Given the description of an element on the screen output the (x, y) to click on. 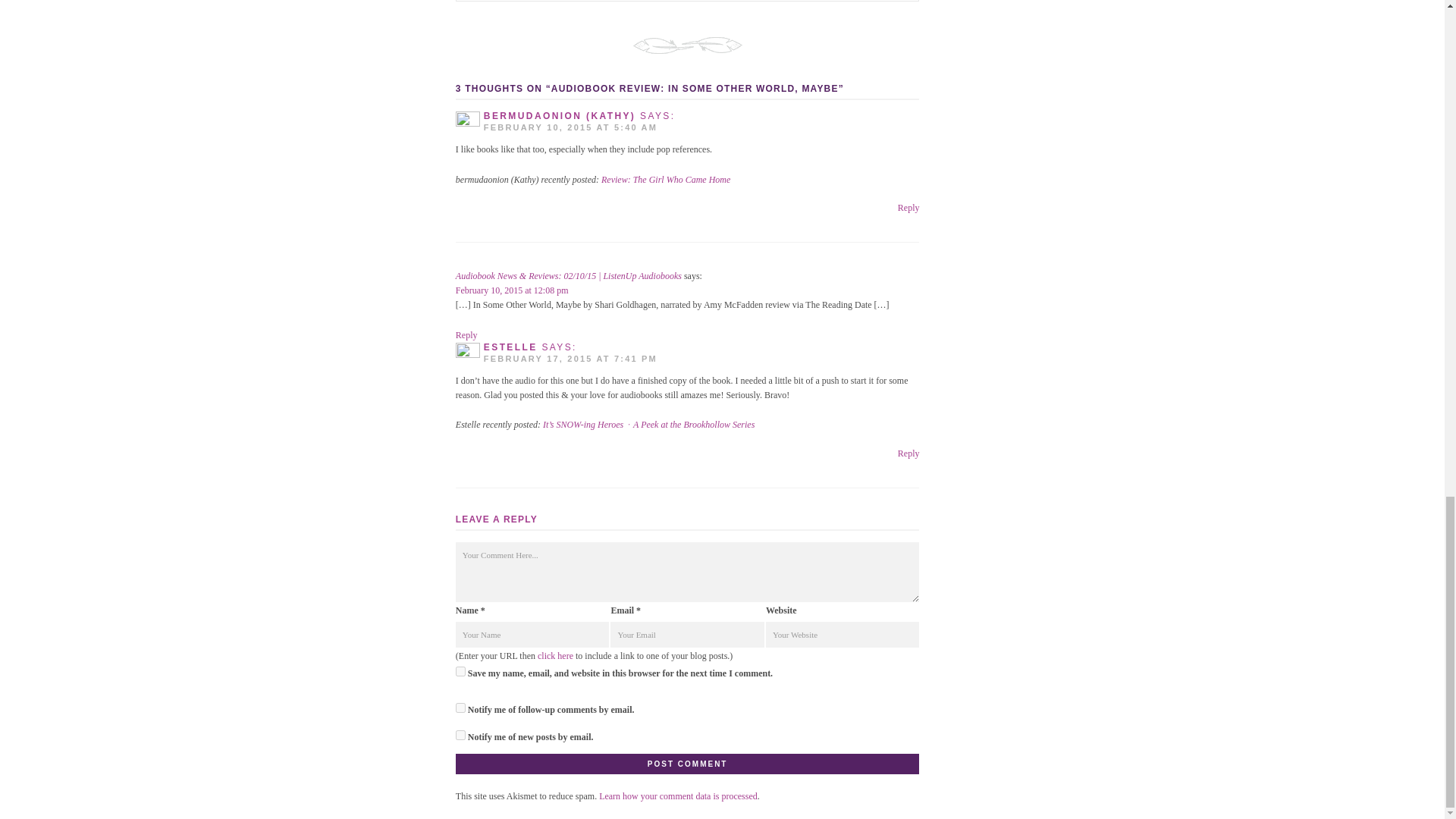
subscribe (460, 707)
Post Comment (687, 763)
subscribe (460, 735)
yes (460, 671)
